Given the description of an element on the screen output the (x, y) to click on. 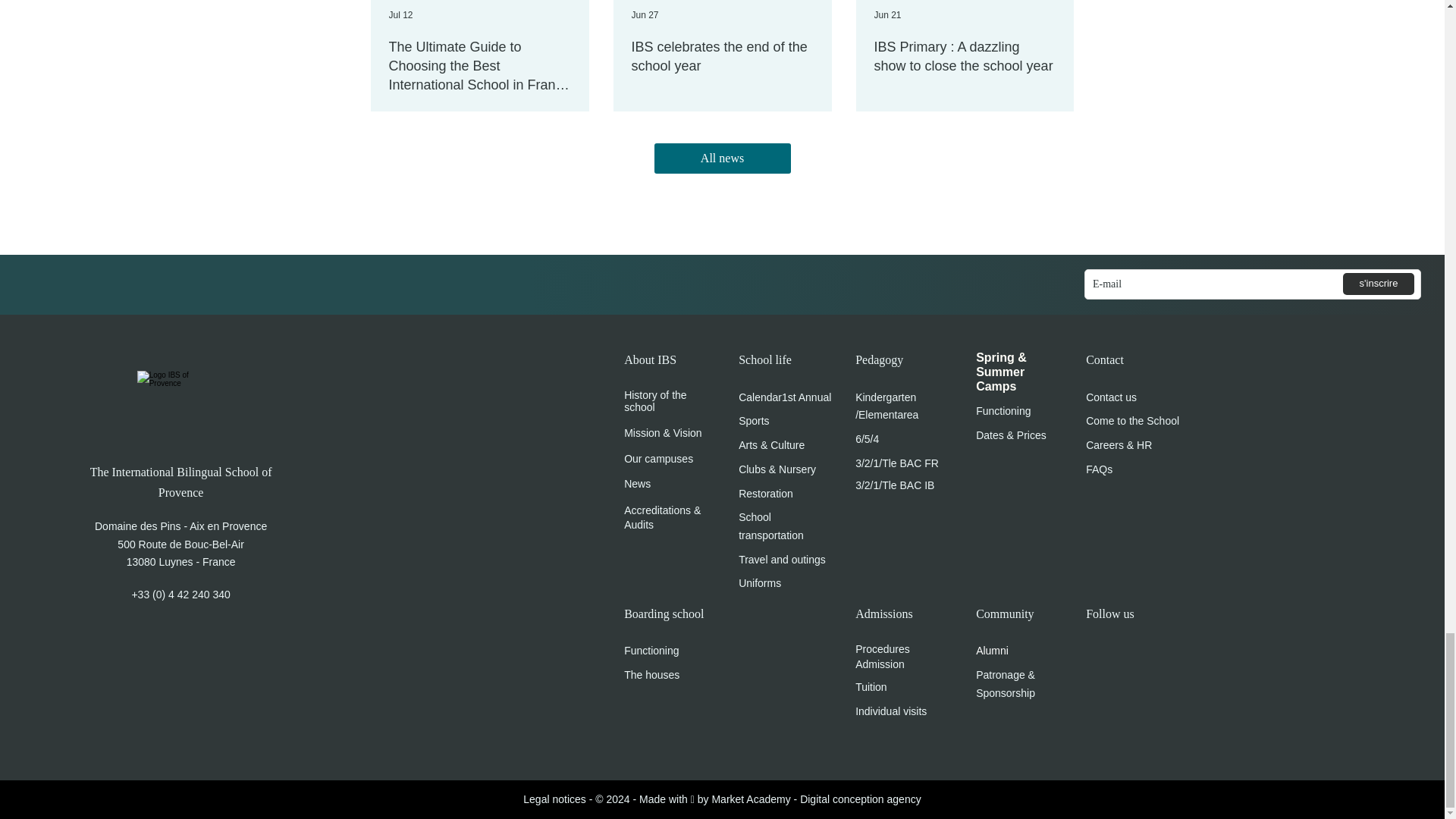
Jul 12 (400, 14)
Jun 27 (644, 14)
Jun 21 (887, 14)
